Given the description of an element on the screen output the (x, y) to click on. 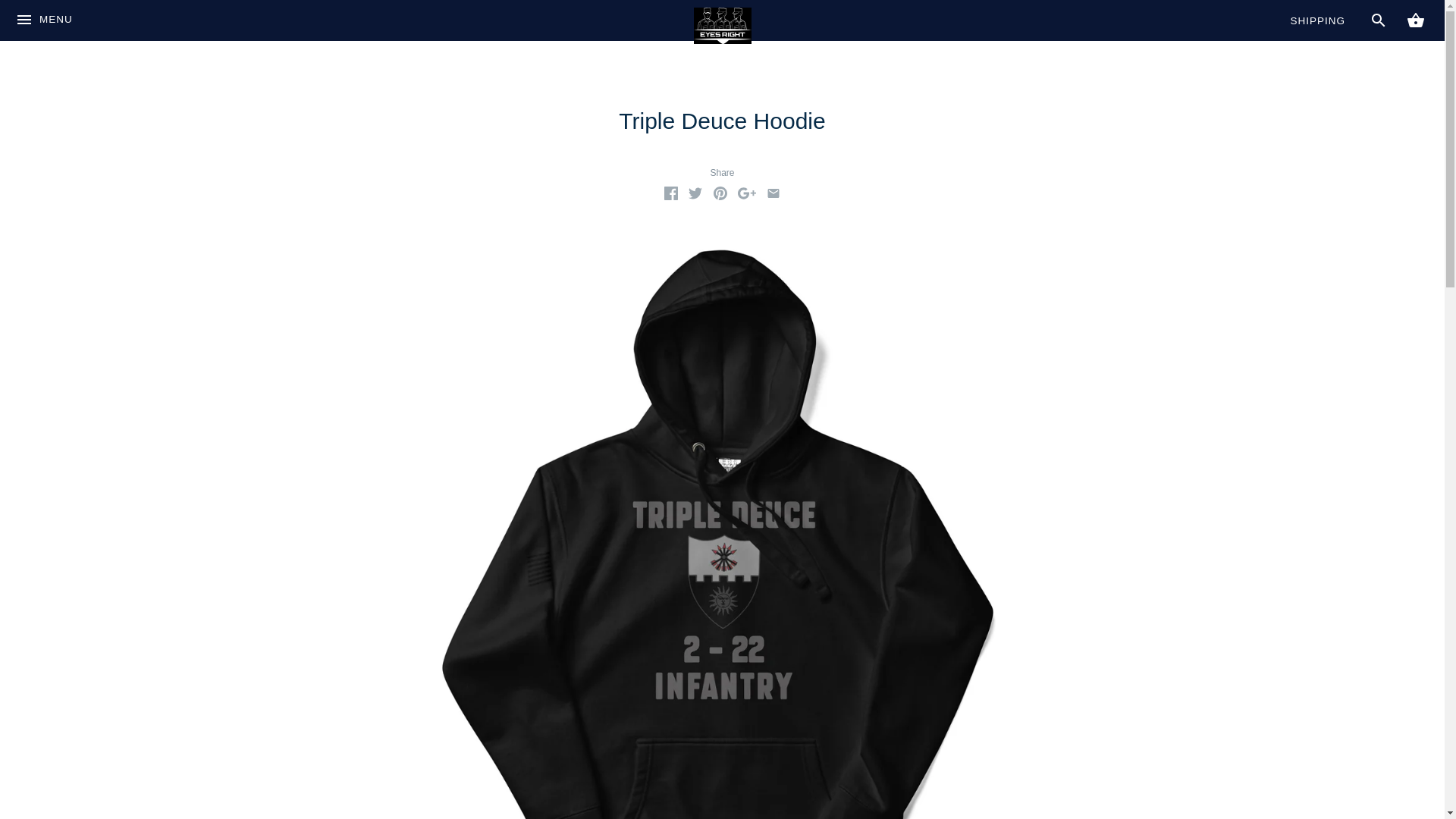
Share on Twitter (694, 195)
Pin the main image (719, 195)
CART (1414, 20)
SEARCH (1378, 19)
Email (773, 192)
Share on Facebook (670, 195)
SHIPPING (1317, 20)
Email this product to somebody (773, 195)
Facebook (670, 192)
Twitter (694, 192)
MENU (43, 25)
GooglePlus (746, 192)
SEARCH (1378, 20)
Pinterest (719, 192)
